Given the description of an element on the screen output the (x, y) to click on. 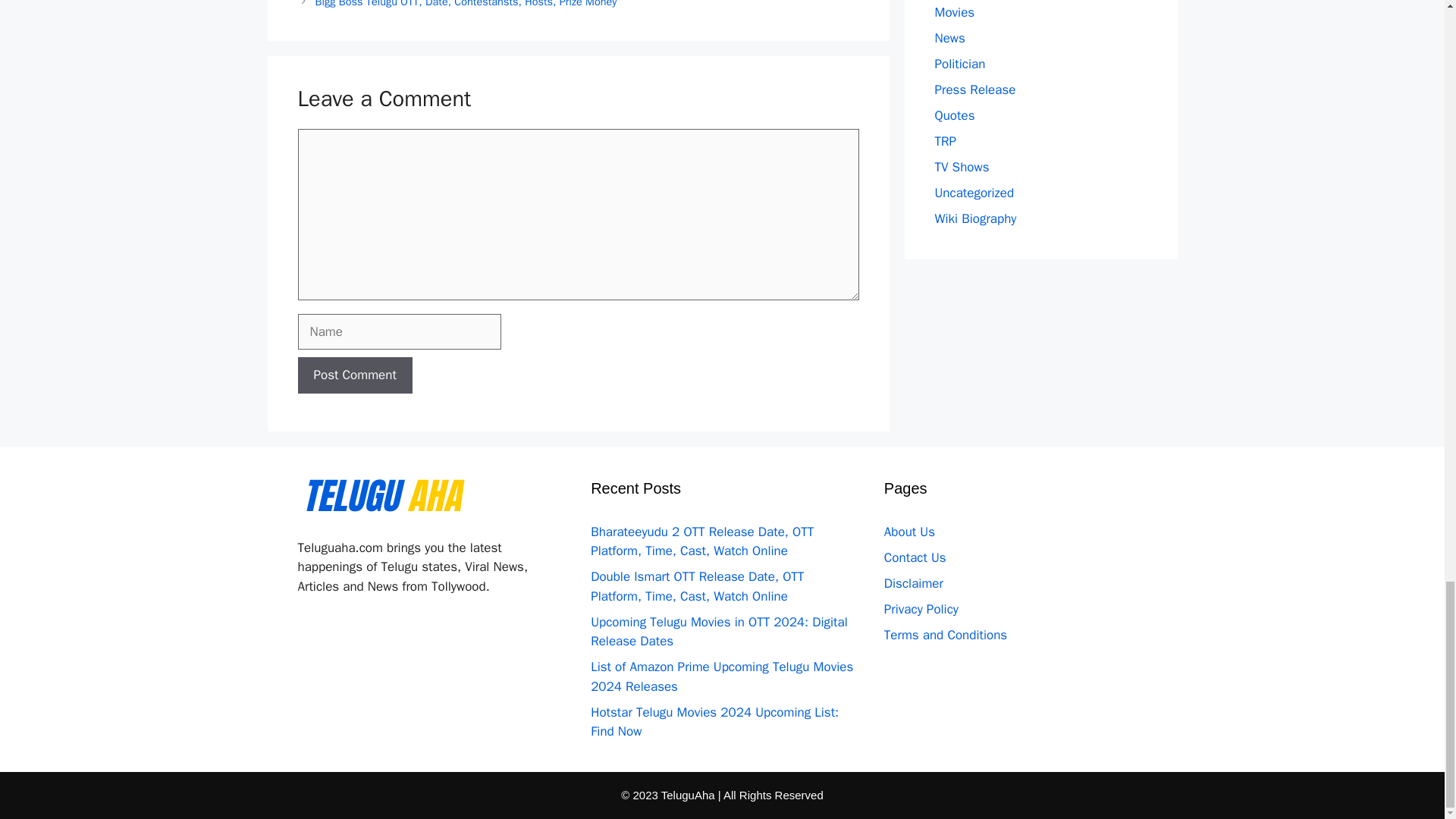
Next (466, 4)
Post Comment (354, 375)
Bigg Boss Telugu OTT, Date, Contestansts, Hosts, Prize Money (466, 4)
logo (384, 508)
Post Comment (354, 375)
